Given the description of an element on the screen output the (x, y) to click on. 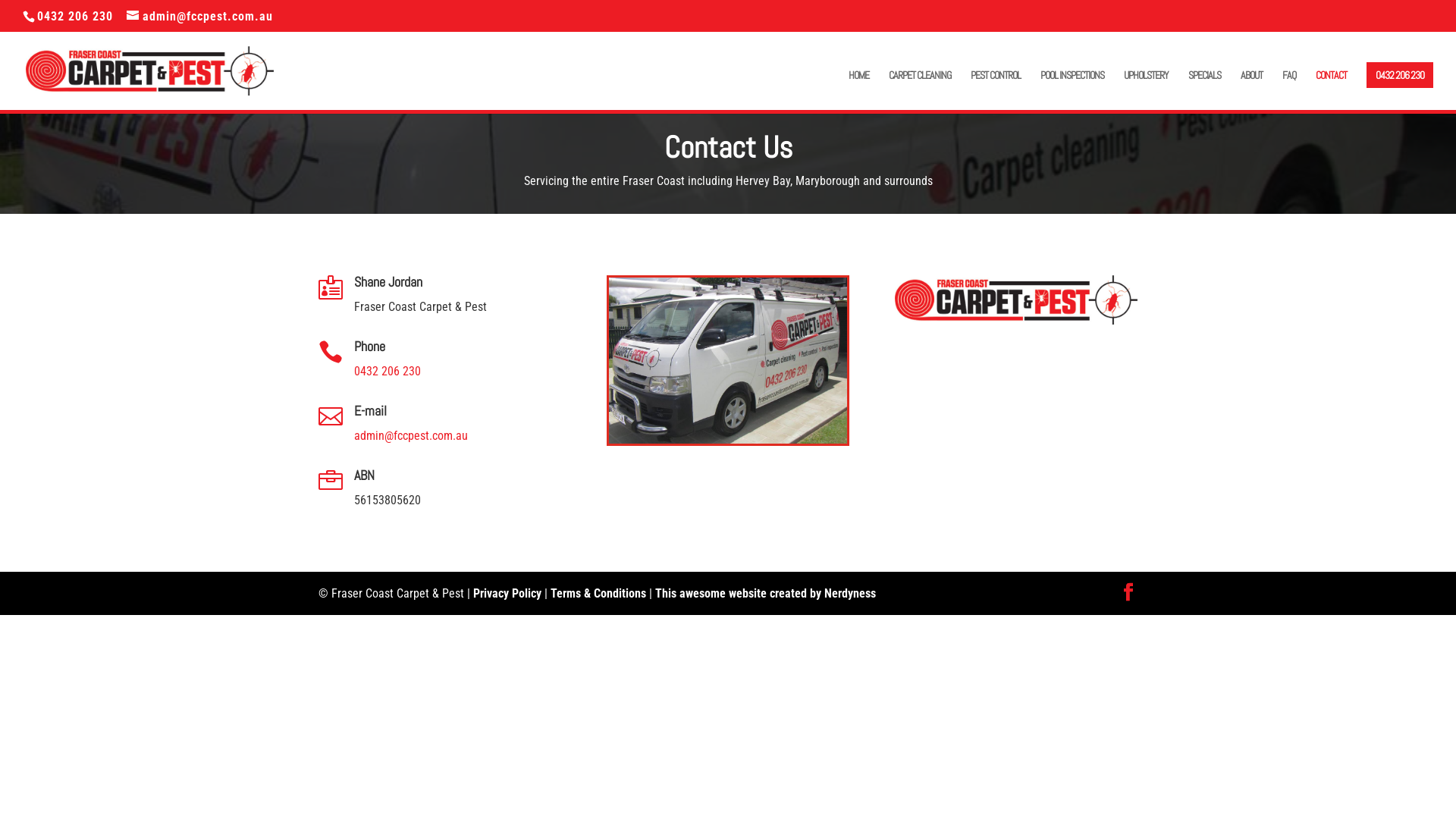
admin@fccpest.com.au Element type: text (410, 435)
0432 206 230 Element type: text (387, 371)
0432 206 230 Element type: text (1399, 74)
CARPET CLEANING Element type: text (919, 87)
admin@fccpest.com.au Element type: text (199, 16)
0432 206 230 Element type: text (72, 16)
SPECIALS Element type: text (1204, 87)
UPHOLSTERY Element type: text (1145, 87)
Privacy Policy Element type: text (507, 593)
CONTACT Element type: text (1330, 87)
Terms & Conditions Element type: text (598, 593)
This awesome website created by Nerdyness Element type: text (765, 593)
PEST CONTROL Element type: text (995, 87)
FAQ Element type: text (1288, 87)
ABOUT Element type: text (1251, 87)
POOL INSPECTIONS Element type: text (1072, 87)
HOME Element type: text (858, 87)
